Given the description of an element on the screen output the (x, y) to click on. 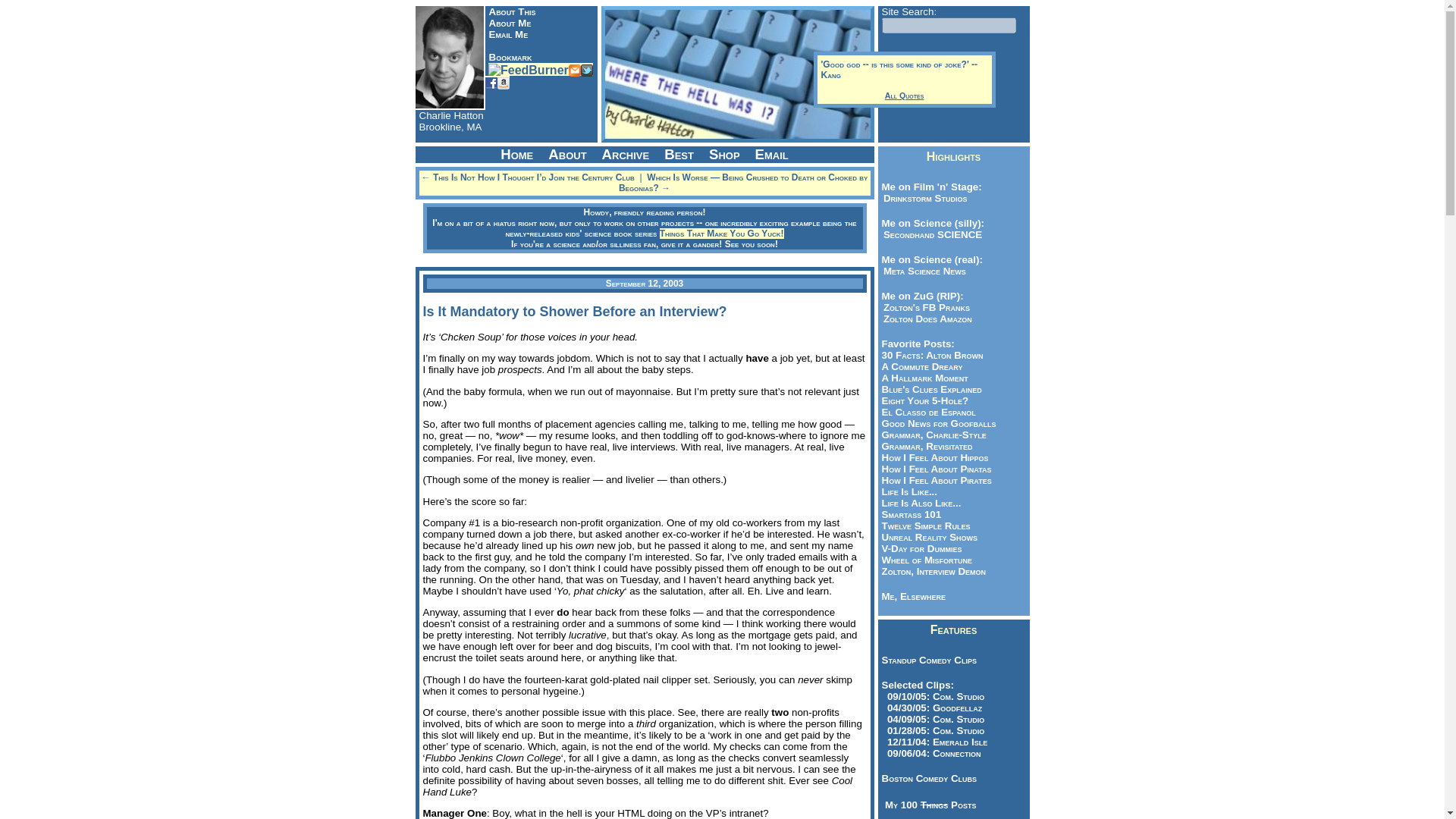
Email (574, 69)
Best (678, 154)
About Me (509, 22)
Archive (626, 154)
All Quotes (904, 94)
Is It Mandatory to Shower Before an Interview? (574, 311)
About This (511, 11)
Things That Make You Go Yuck! (721, 233)
Home (516, 154)
Subscribe (528, 69)
Facebook (490, 82)
Shop (724, 154)
Follow (586, 69)
Kindle (503, 82)
Bookmark (509, 57)
